Given the description of an element on the screen output the (x, y) to click on. 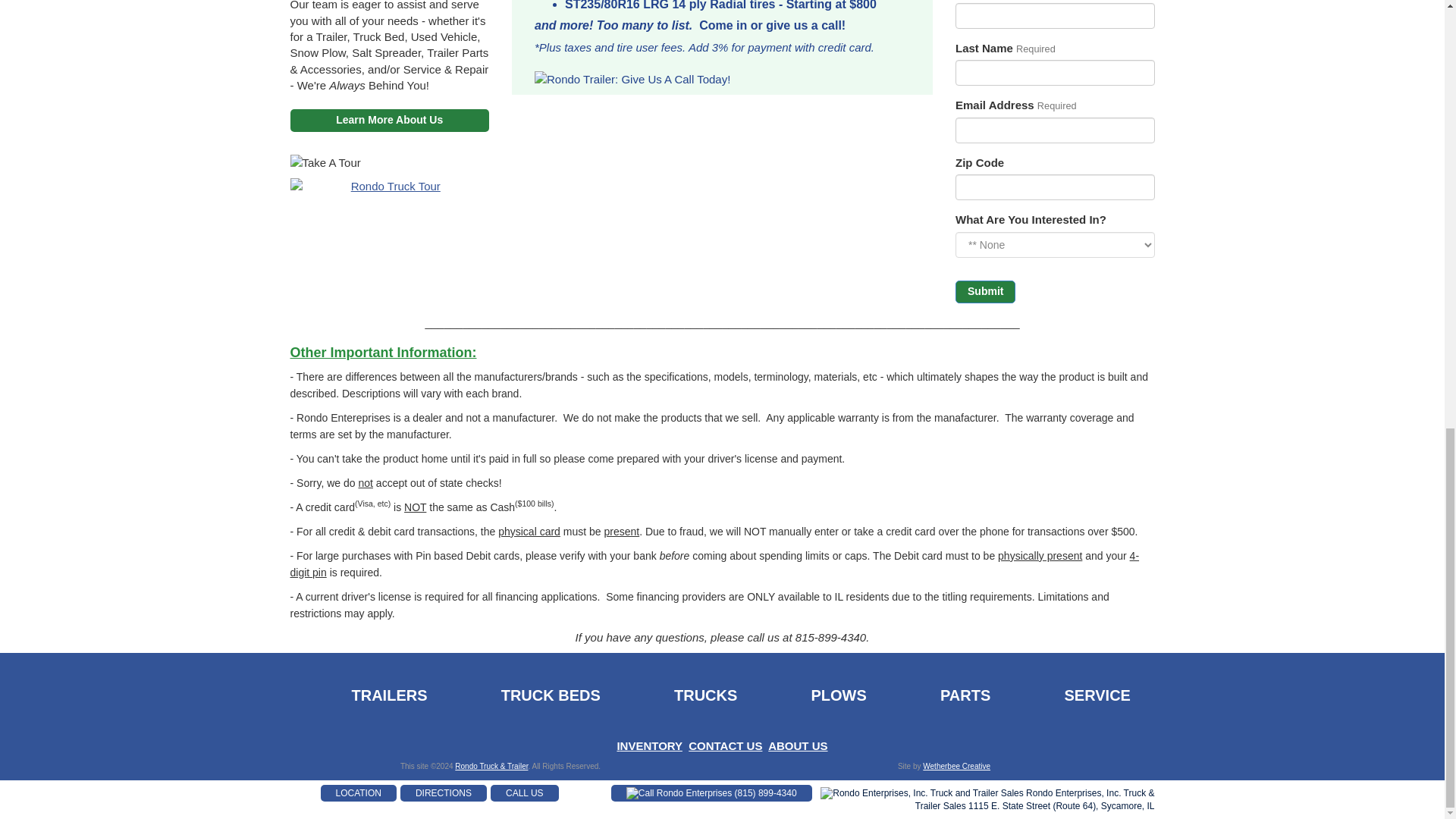
Truck Beds (524, 695)
Learn More About Us (389, 119)
Trailers (362, 695)
Take A Tour (389, 162)
Trucks (678, 695)
Open Rondo Trailer Video (389, 186)
Rondo Trailer: Give Us A Call Today! (722, 78)
